Given the description of an element on the screen output the (x, y) to click on. 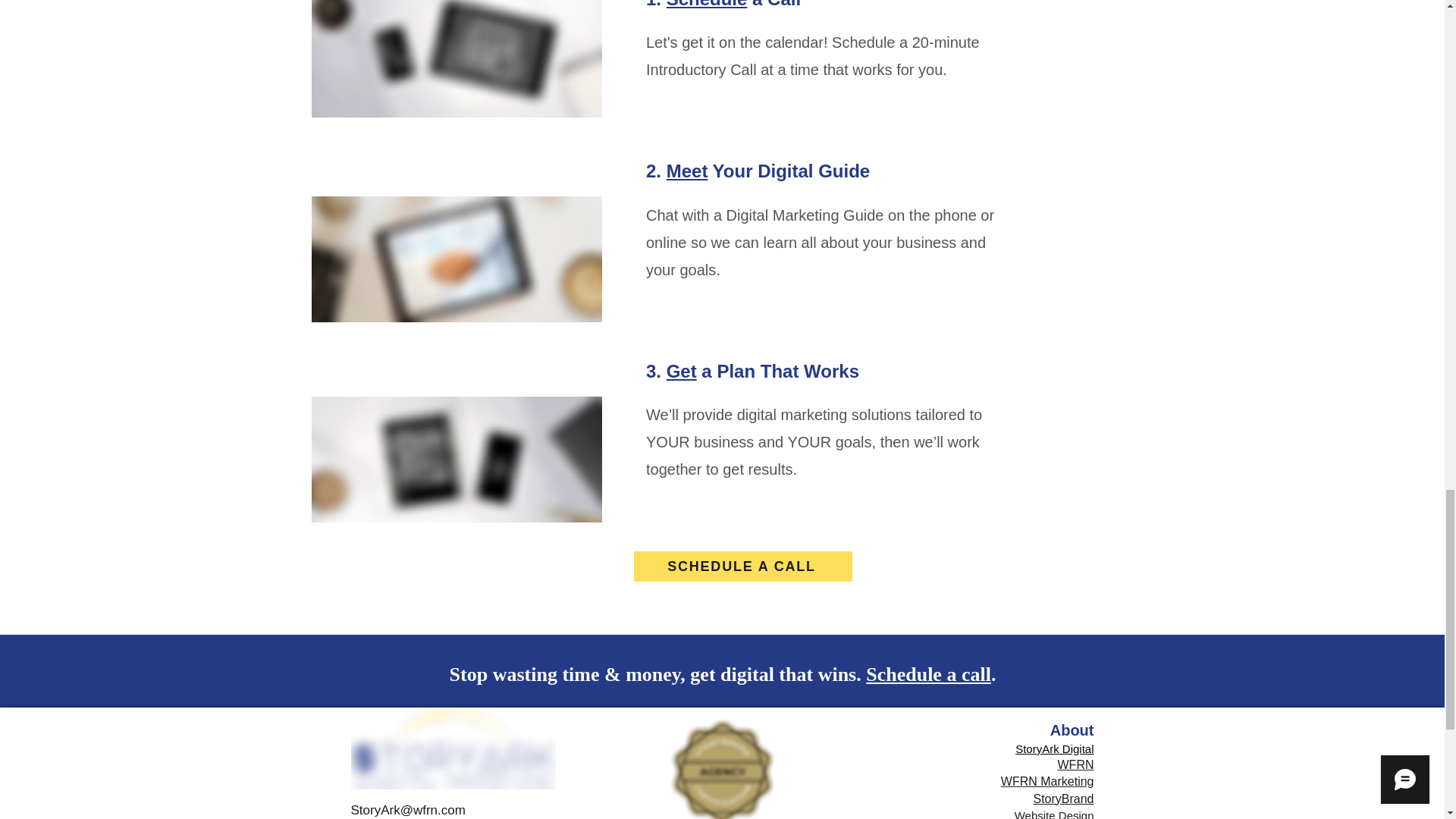
StoryArk Digital (1053, 748)
WFRN (1076, 764)
SCHEDULE A CALL (742, 566)
WFRN Marketing (1047, 780)
StoryBrand (1062, 798)
Schedule a call (928, 674)
Website Design (1054, 814)
